Given the description of an element on the screen output the (x, y) to click on. 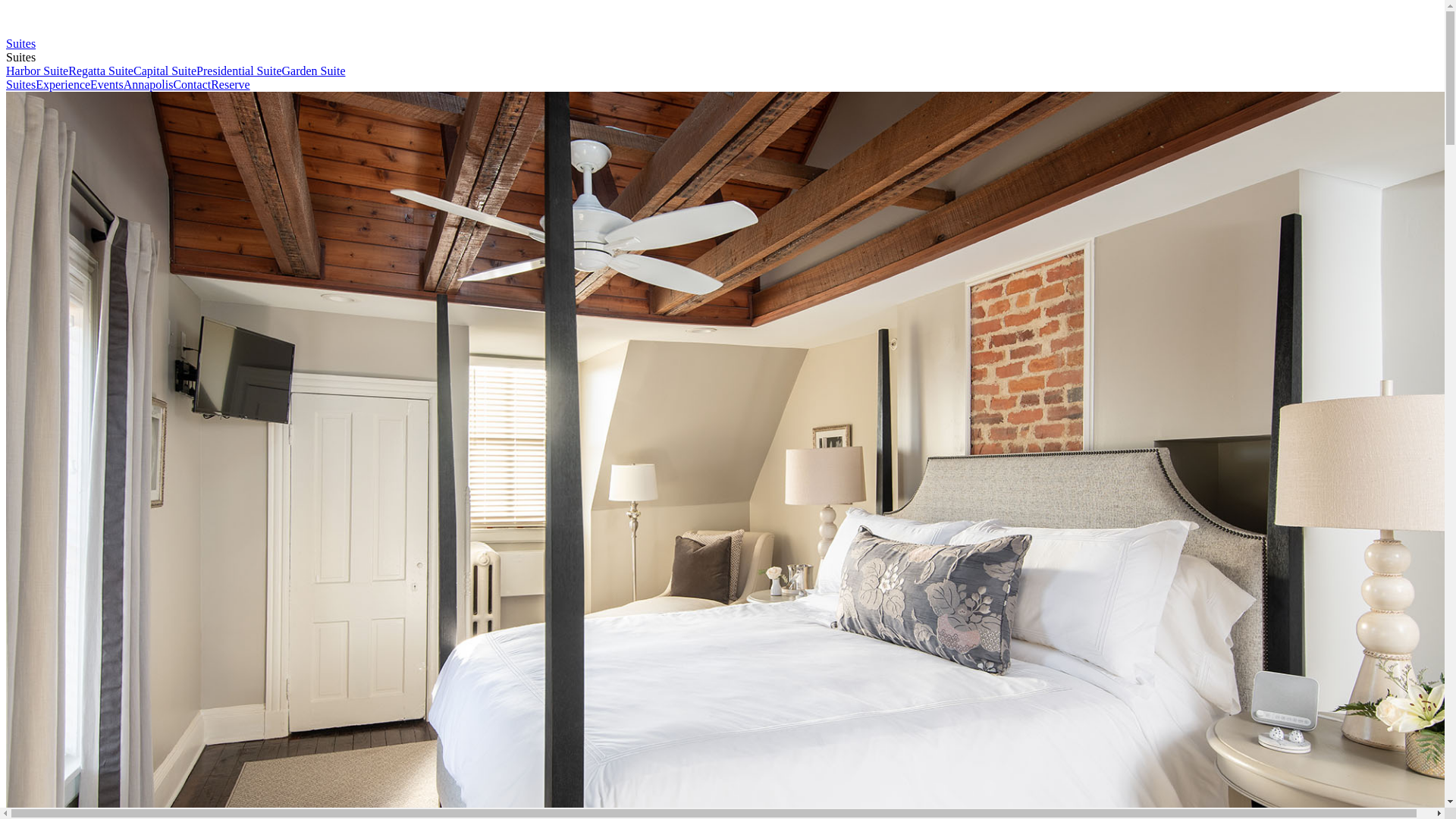
Harbor Suite Element type: text (37, 70)
Presidential Suite Element type: text (238, 70)
Annapolis Element type: text (148, 84)
Garden Suite Element type: text (313, 70)
Suites Element type: text (20, 43)
Contact Element type: text (191, 84)
Suites Element type: text (20, 84)
Capital Suite Element type: text (164, 70)
Experience Element type: text (62, 84)
Events Element type: text (106, 84)
Regatta Suite Element type: text (100, 70)
Reserve Element type: text (230, 84)
